Given the description of an element on the screen output the (x, y) to click on. 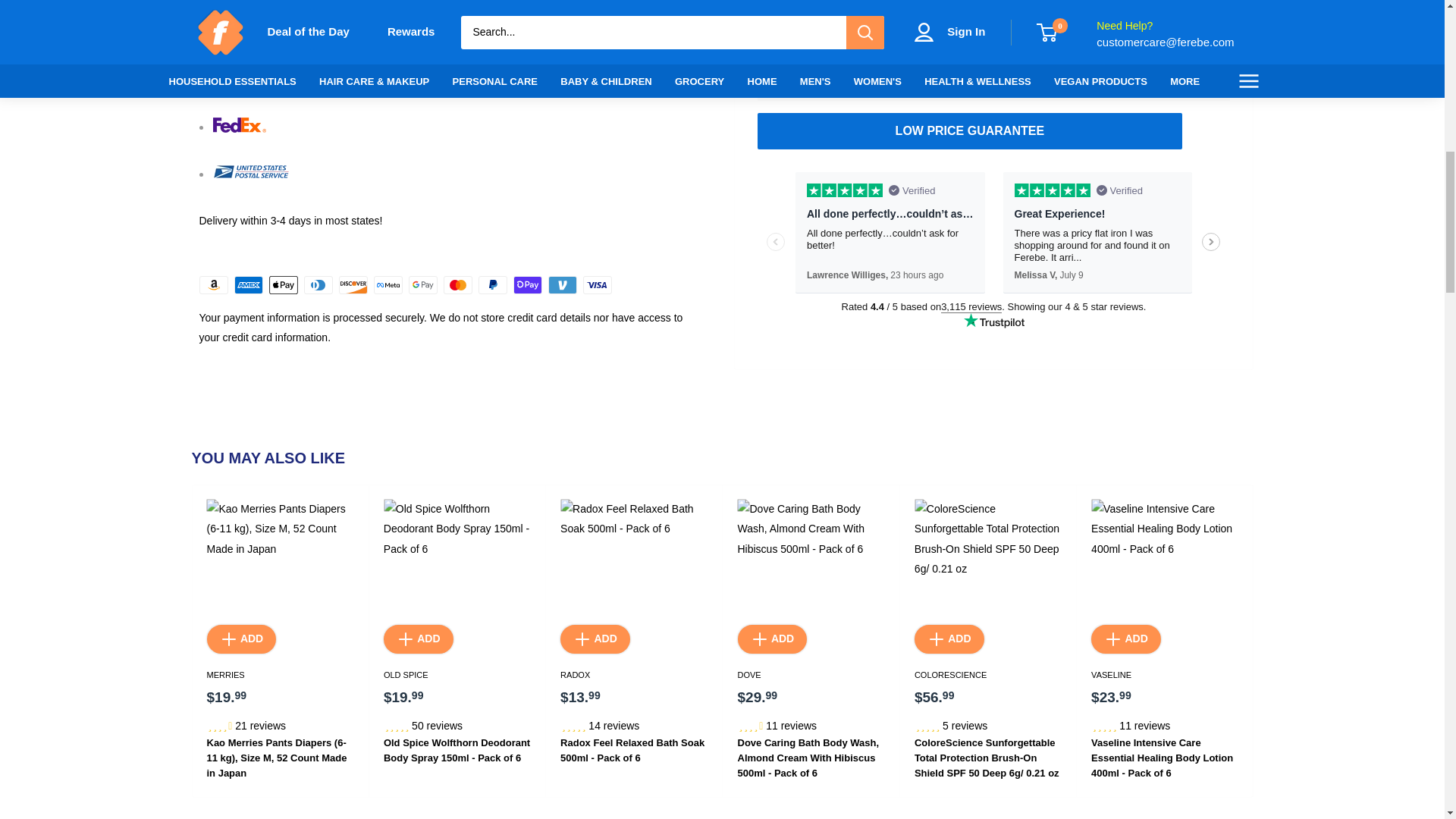
Customer reviews powered by Trustpilot (992, 250)
